Given the description of an element on the screen output the (x, y) to click on. 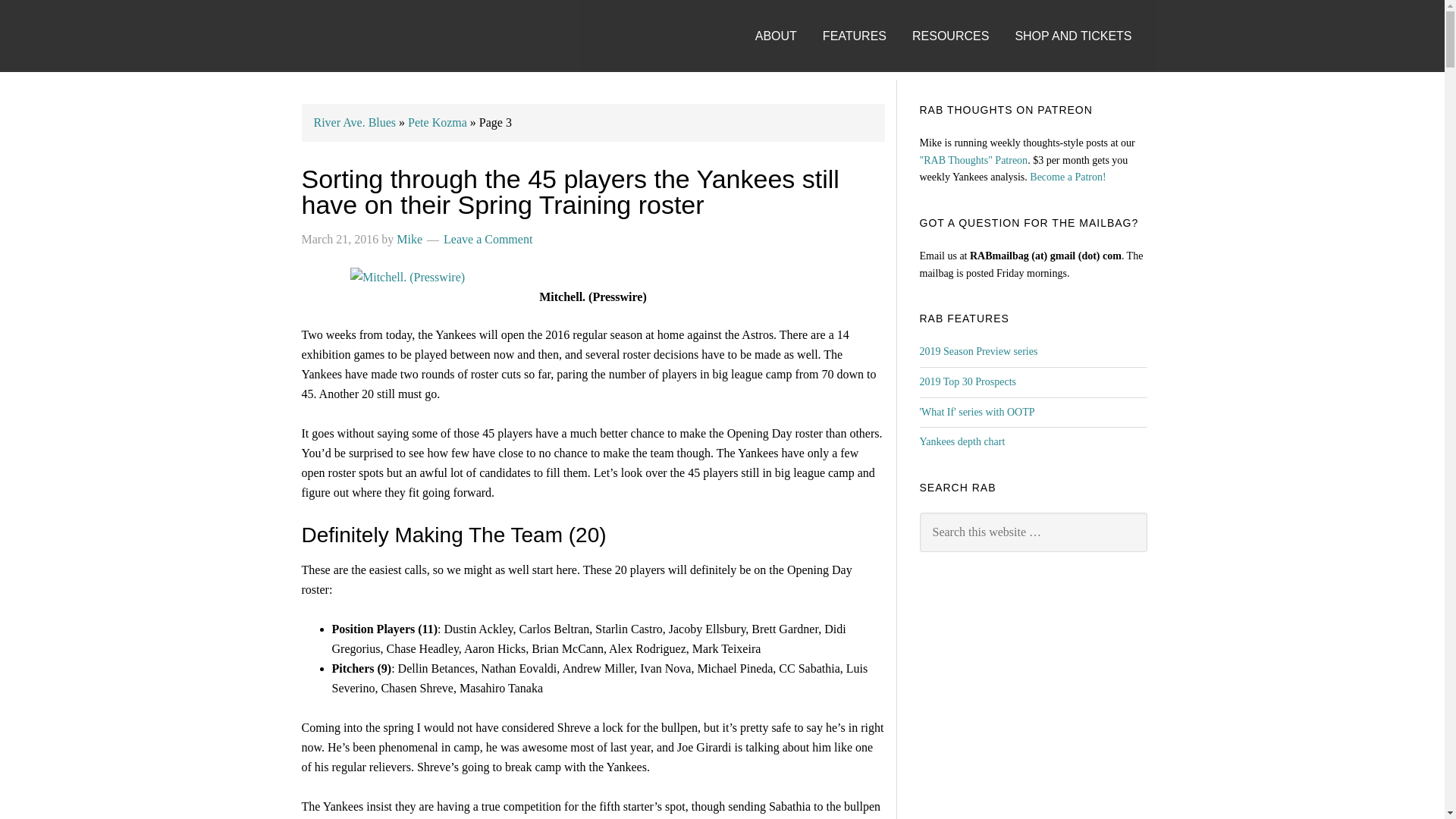
Pete Kozma (437, 122)
RESOURCES (961, 21)
ABOUT (787, 21)
Mike (409, 238)
Leave a Comment (488, 238)
SHOP AND TICKETS (1084, 21)
River Ave. Blues (355, 122)
FEATURES (865, 21)
RIVER AVENUE BLUES (334, 36)
